Given the description of an element on the screen output the (x, y) to click on. 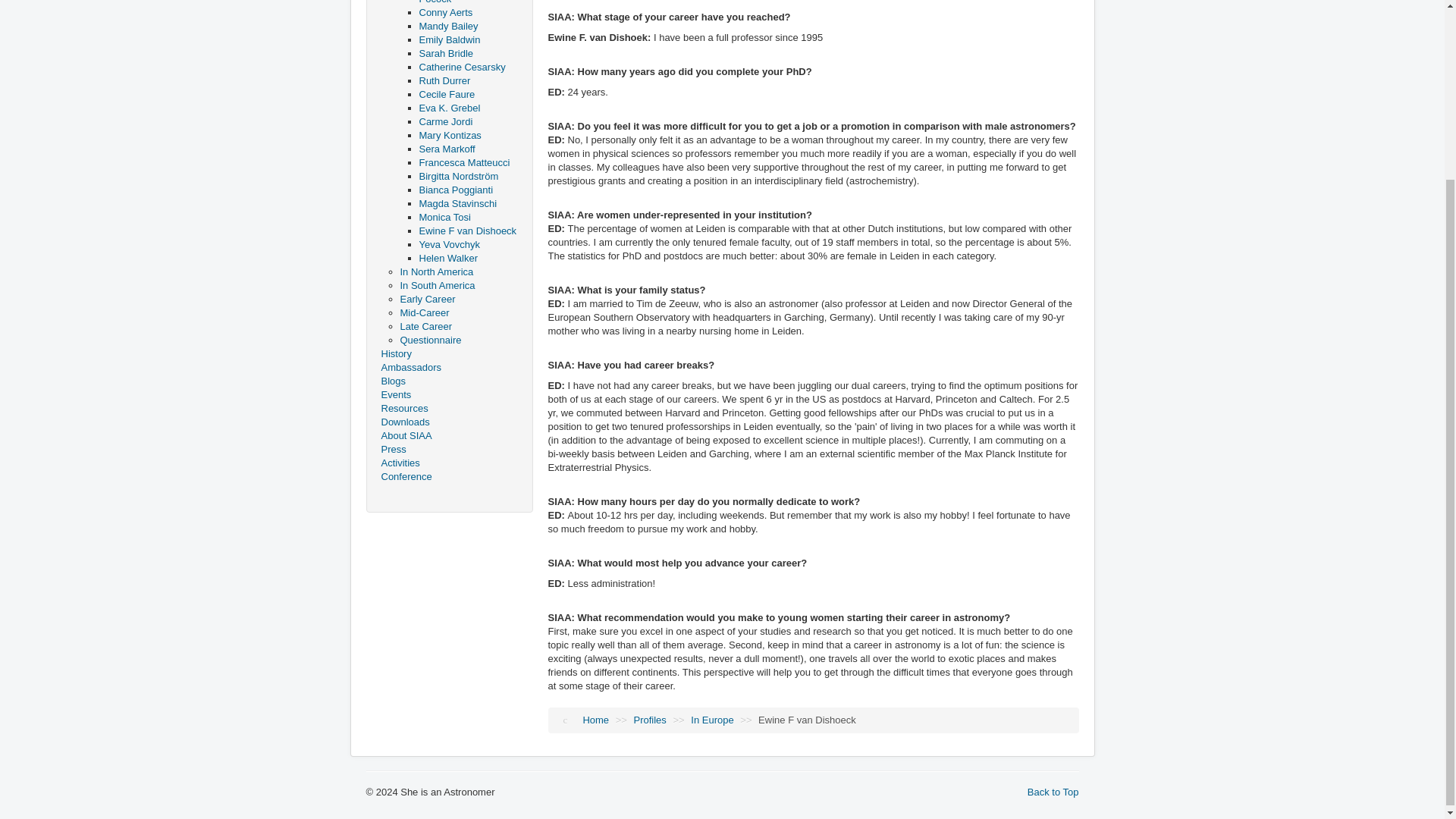
Helen Walker (448, 257)
Magda Stavinschi (457, 203)
Mid-Career (424, 312)
Conny Aerts (445, 12)
Francesca Matteucci (464, 162)
Sarah Bridle (446, 52)
Blogs (448, 381)
In North America (437, 271)
Questionnaire (430, 339)
Events (448, 395)
